Given the description of an element on the screen output the (x, y) to click on. 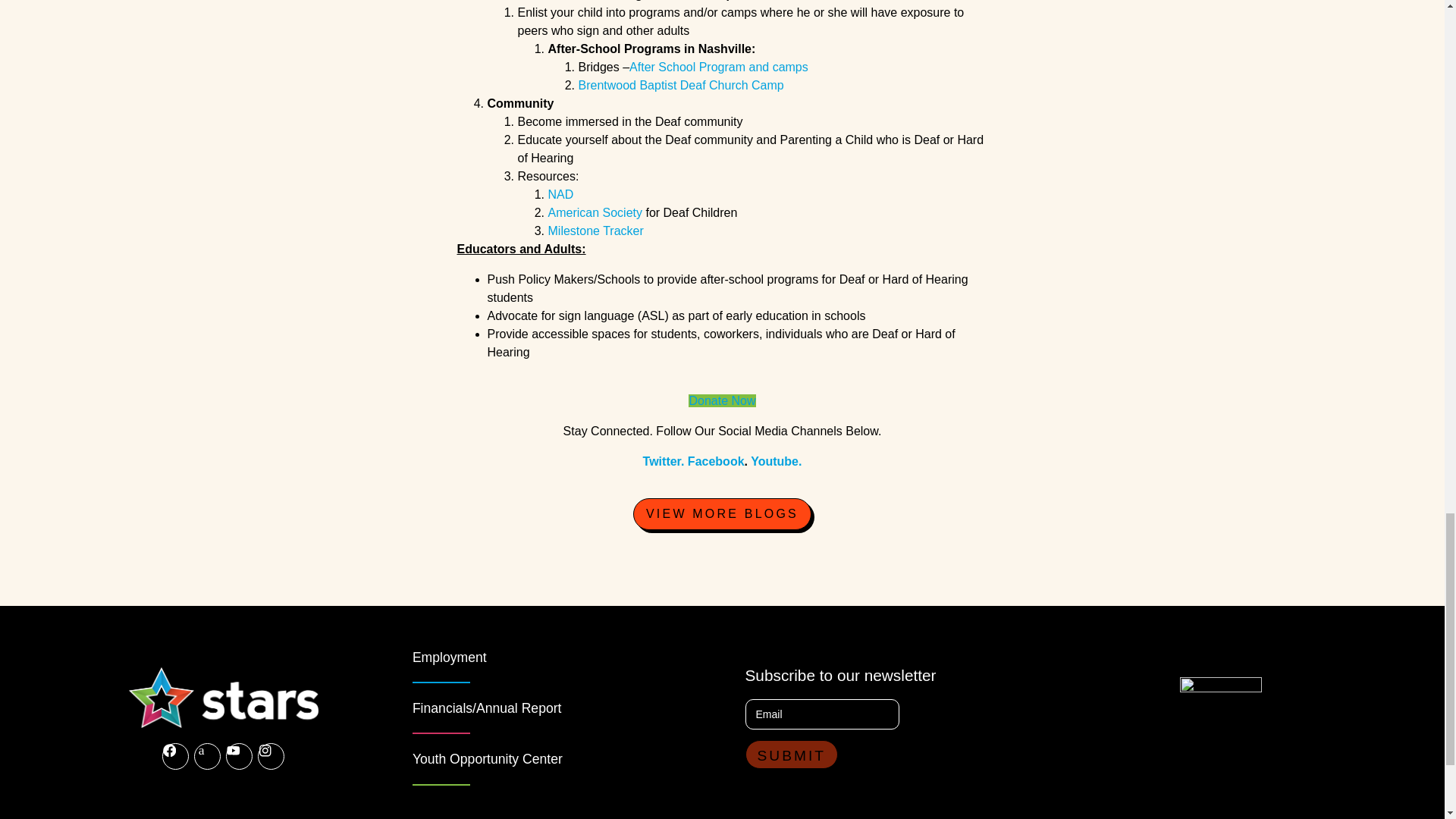
Youtube. (776, 461)
American Society (596, 212)
Youth Opportunity Center (487, 758)
After School Program and camps (718, 66)
Milestone Tracker  (596, 230)
Brentwood Baptist Deaf Church Camp  (682, 84)
Donate Now (721, 400)
Submit (791, 754)
Twitter. (663, 461)
NAD (560, 194)
Facebook (715, 461)
VIEW MORE BLOGS (721, 513)
Submit (791, 754)
Employment (449, 657)
